Given the description of an element on the screen output the (x, y) to click on. 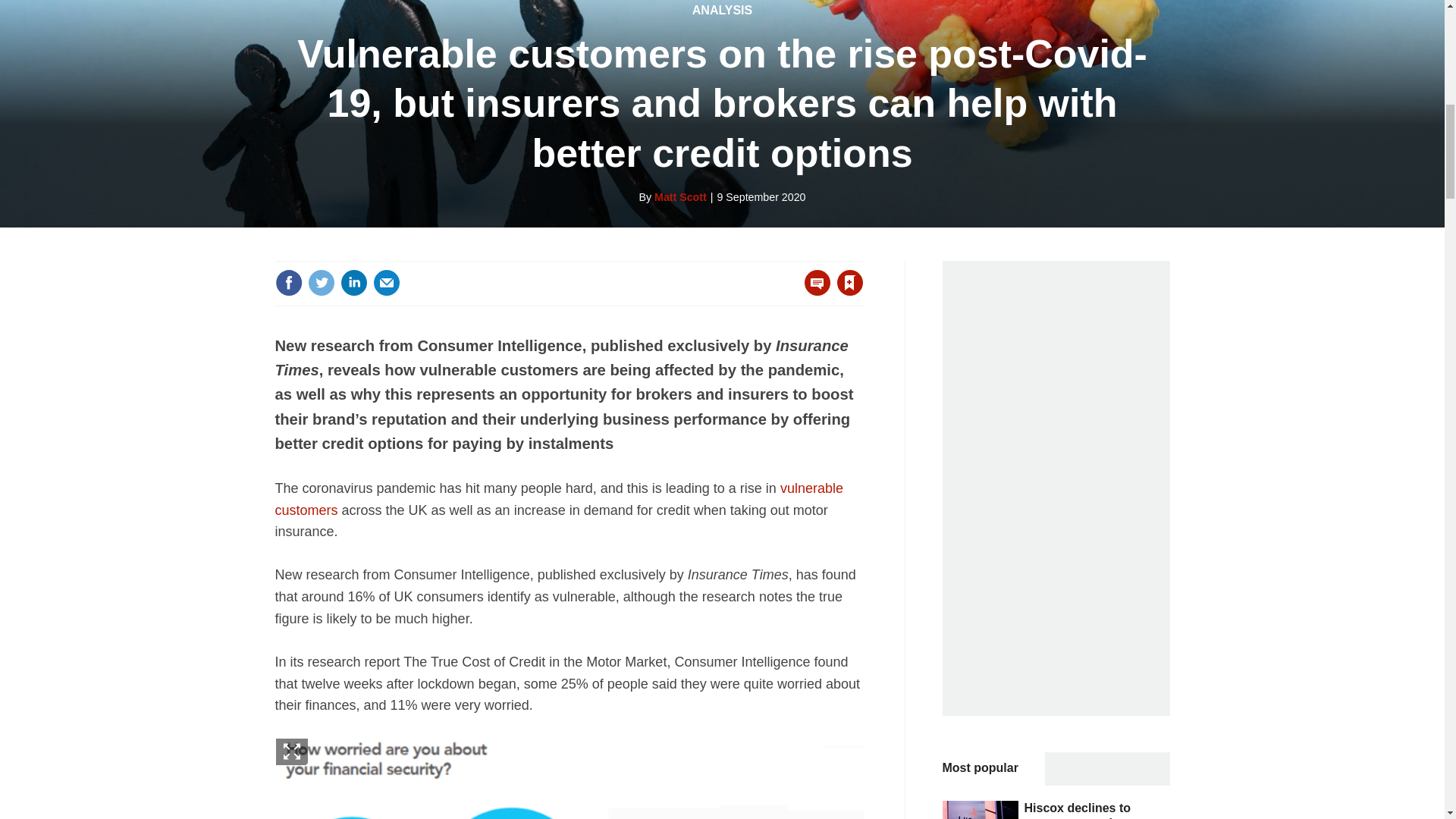
Email this article (386, 282)
Share this on Twitter (320, 282)
Share this on Facebook (288, 282)
No comments (812, 291)
Share this on Linked in (352, 282)
